Given the description of an element on the screen output the (x, y) to click on. 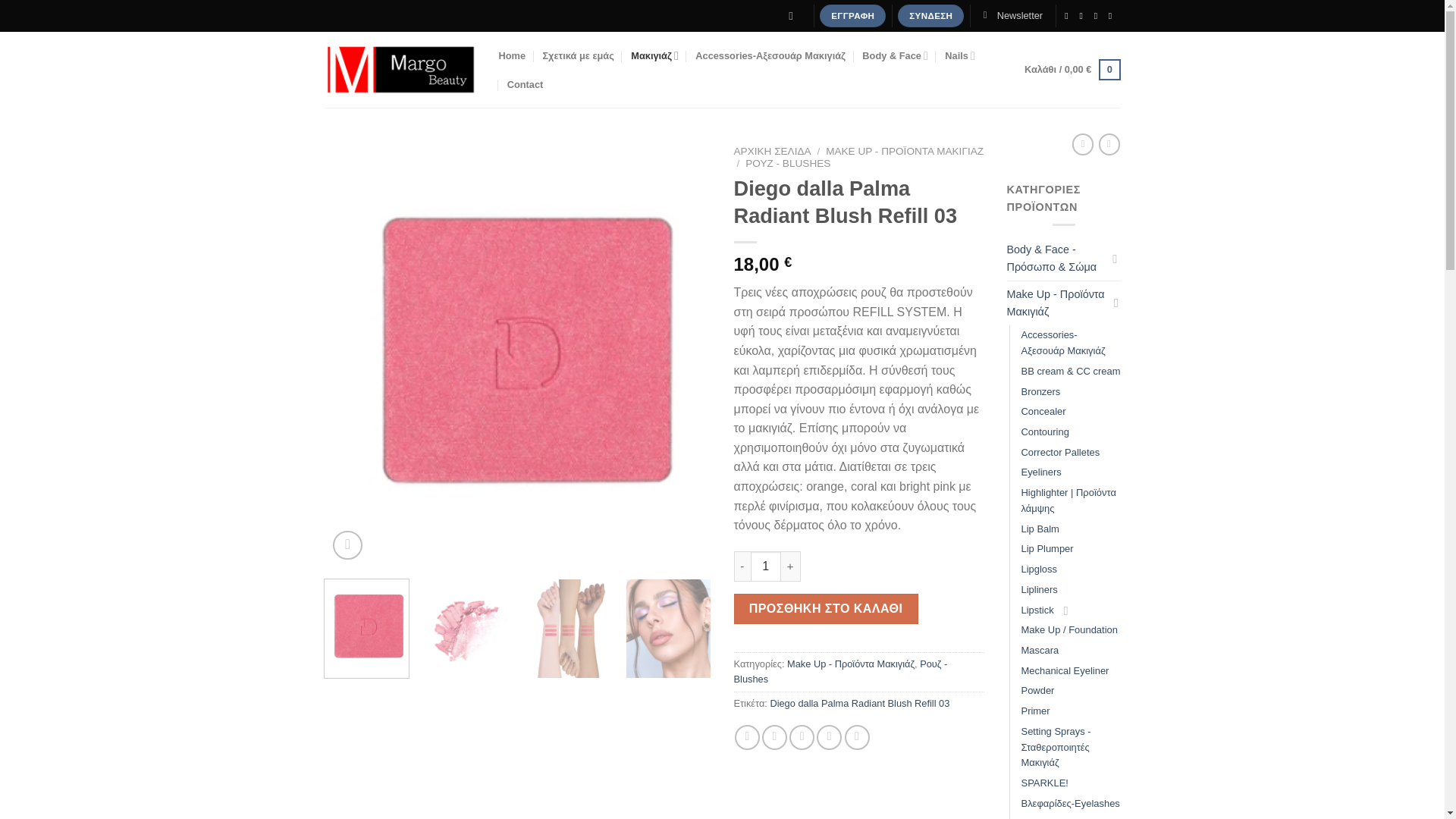
Sign up for Newsletter (1012, 15)
Newsletter (1012, 15)
1 (765, 566)
Share on Twitter (774, 737)
Pin on Pinterest (828, 737)
Email to a Friend (801, 737)
Home (512, 55)
Share on LinkedIn (856, 737)
Share on Facebook (747, 737)
Zoom (347, 545)
Margo Beauty (400, 69)
